Given the description of an element on the screen output the (x, y) to click on. 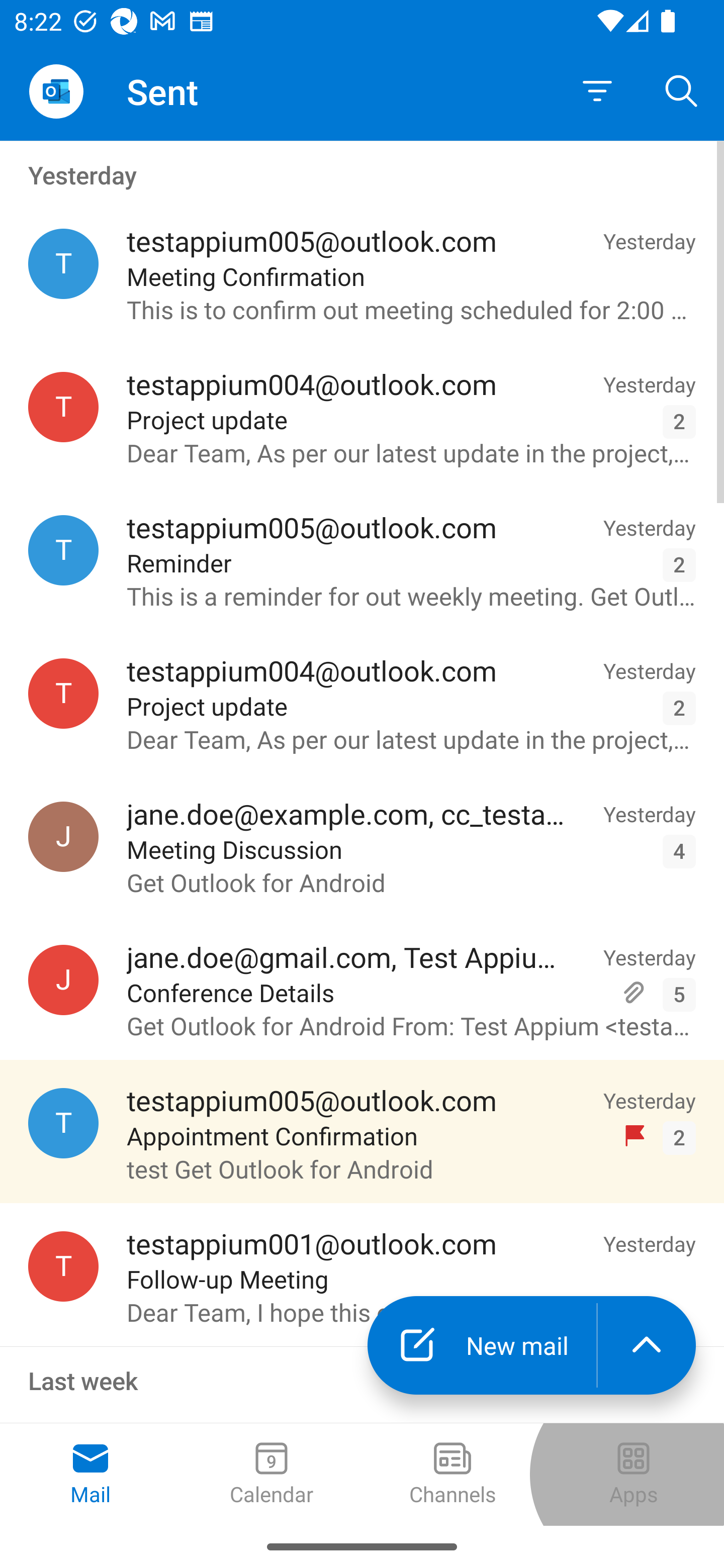
Search, ,  (681, 90)
Open Navigation Drawer (55, 91)
Filter (597, 91)
jane.doe@example.com, jane.doe@example.com (63, 836)
jane.doe@gmail.com, jane.doe@gmail.com (63, 979)
New mail (481, 1344)
launch the extended action menu (646, 1344)
Calendar (271, 1474)
Channels (452, 1474)
Apps (633, 1474)
